Given the description of an element on the screen output the (x, y) to click on. 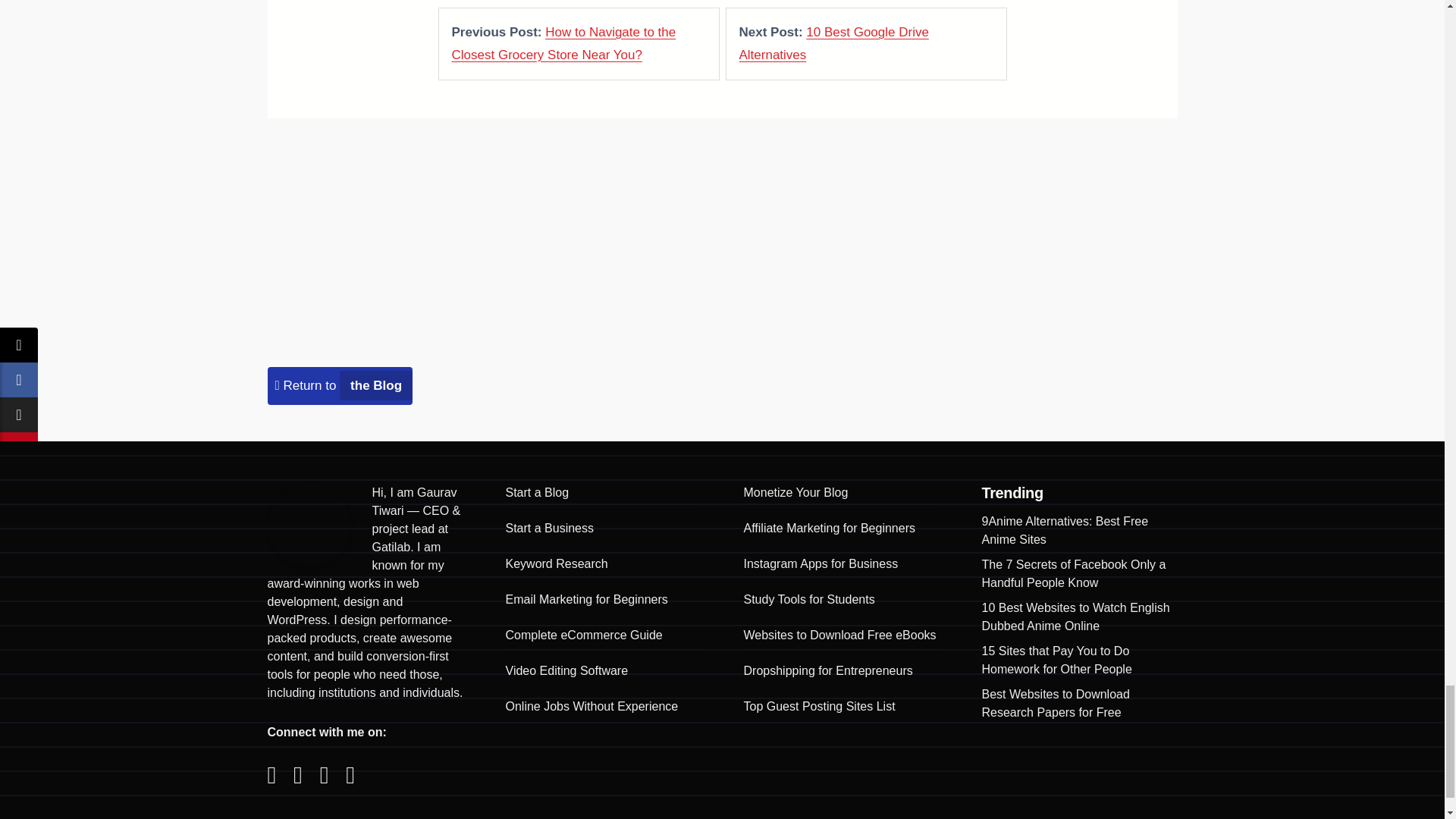
Get Newsletter (931, 280)
10 Best Google Drive Alternatives (833, 43)
How to Navigate to the Closest Grocery Store Near You? (564, 43)
